Given the description of an element on the screen output the (x, y) to click on. 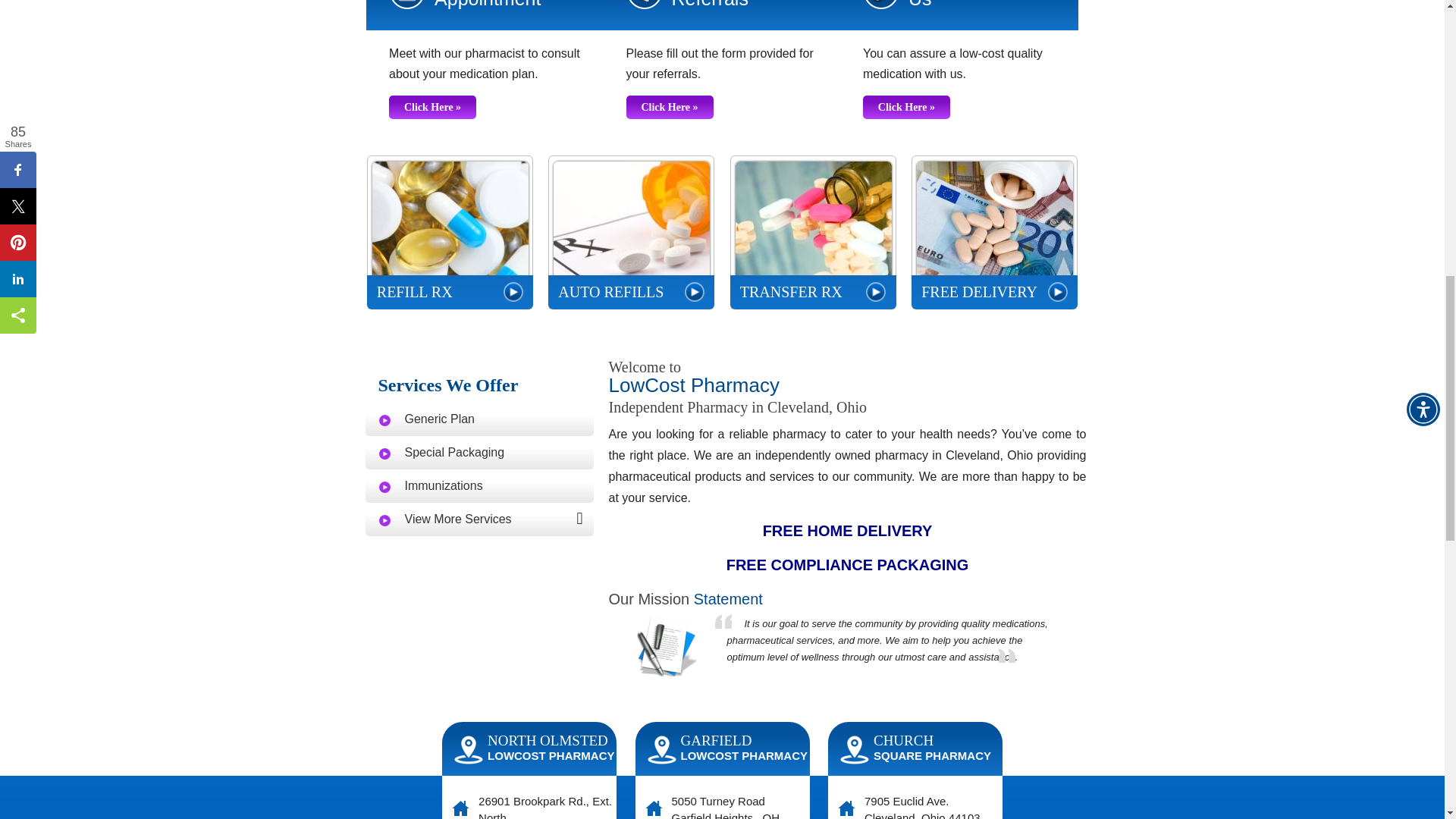
Immunizations (479, 485)
Generic Plan (479, 418)
View More Services (479, 518)
FREE DELIVERY (994, 231)
TRANSFER RX (813, 231)
Special Packaging (479, 451)
REFILL RX (449, 231)
AUTO REFILLS (631, 231)
